Given the description of an element on the screen output the (x, y) to click on. 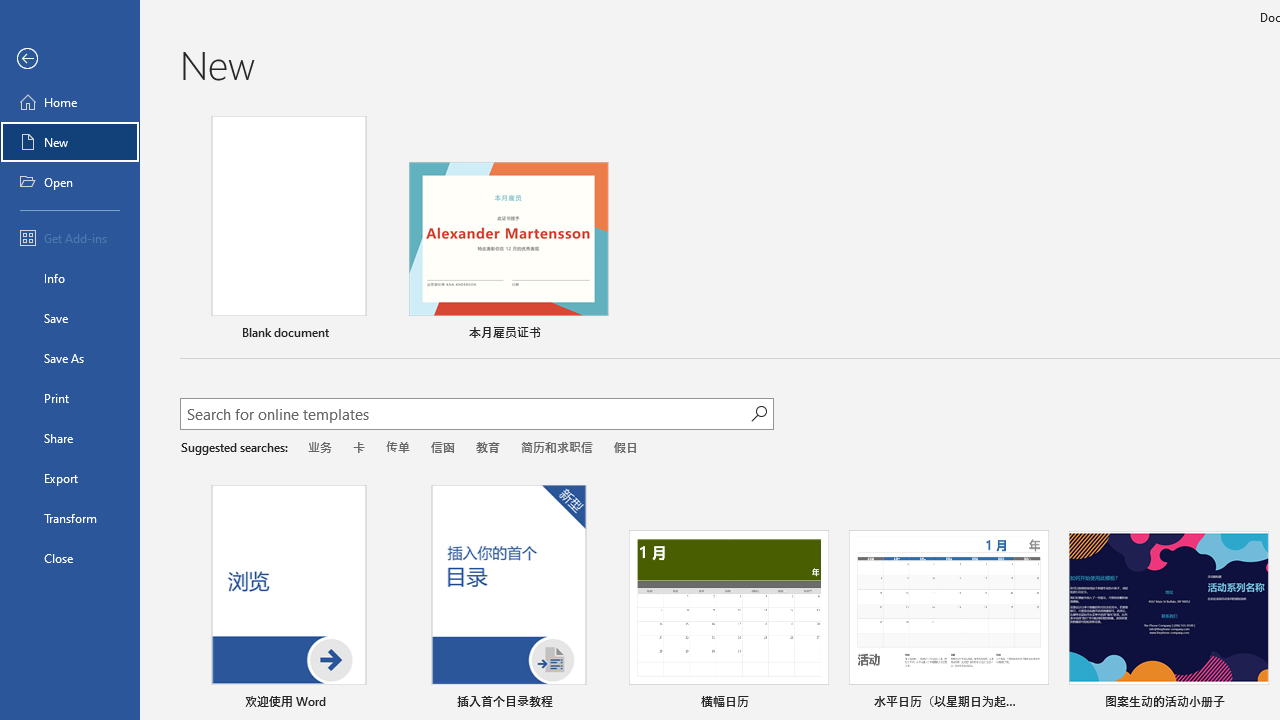
Get Add-ins (69, 237)
Pin to list (1255, 703)
Print (69, 398)
Save As (69, 357)
Start searching (758, 413)
Info (69, 277)
Blank document (288, 231)
Export (69, 477)
